Given the description of an element on the screen output the (x, y) to click on. 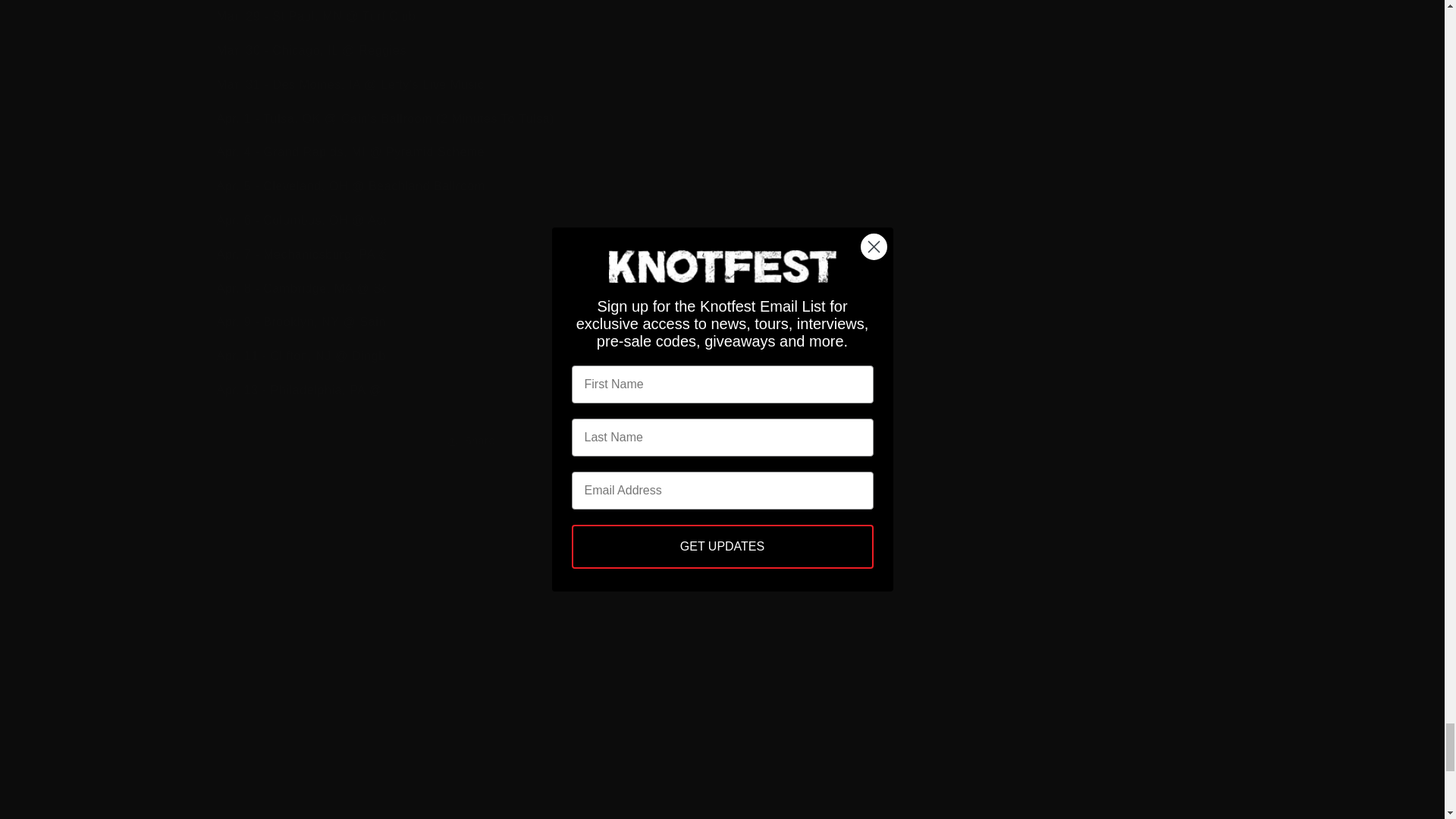
Share (721, 441)
